Given the description of an element on the screen output the (x, y) to click on. 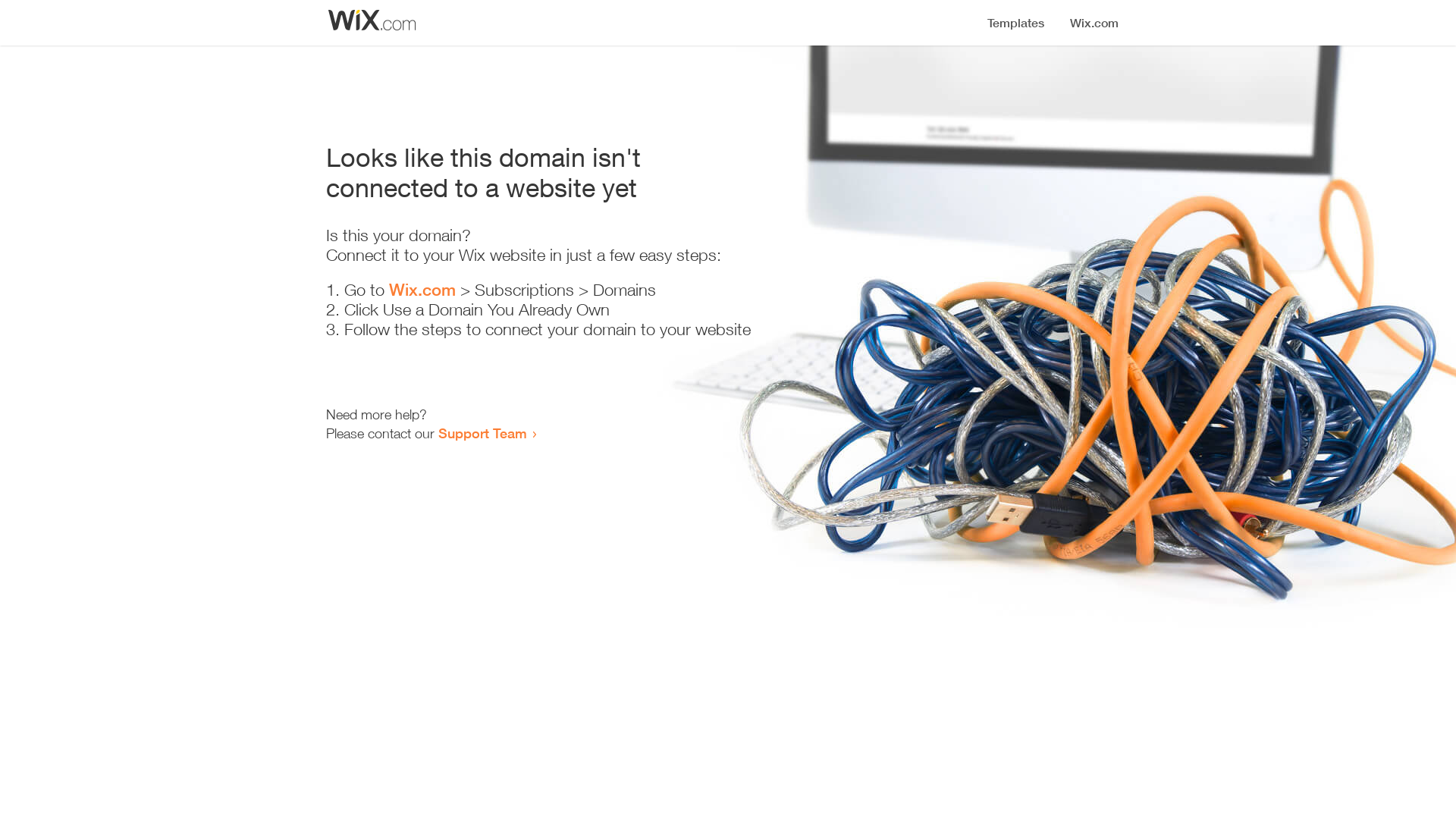
Wix.com Element type: text (422, 289)
Support Team Element type: text (482, 432)
